Given the description of an element on the screen output the (x, y) to click on. 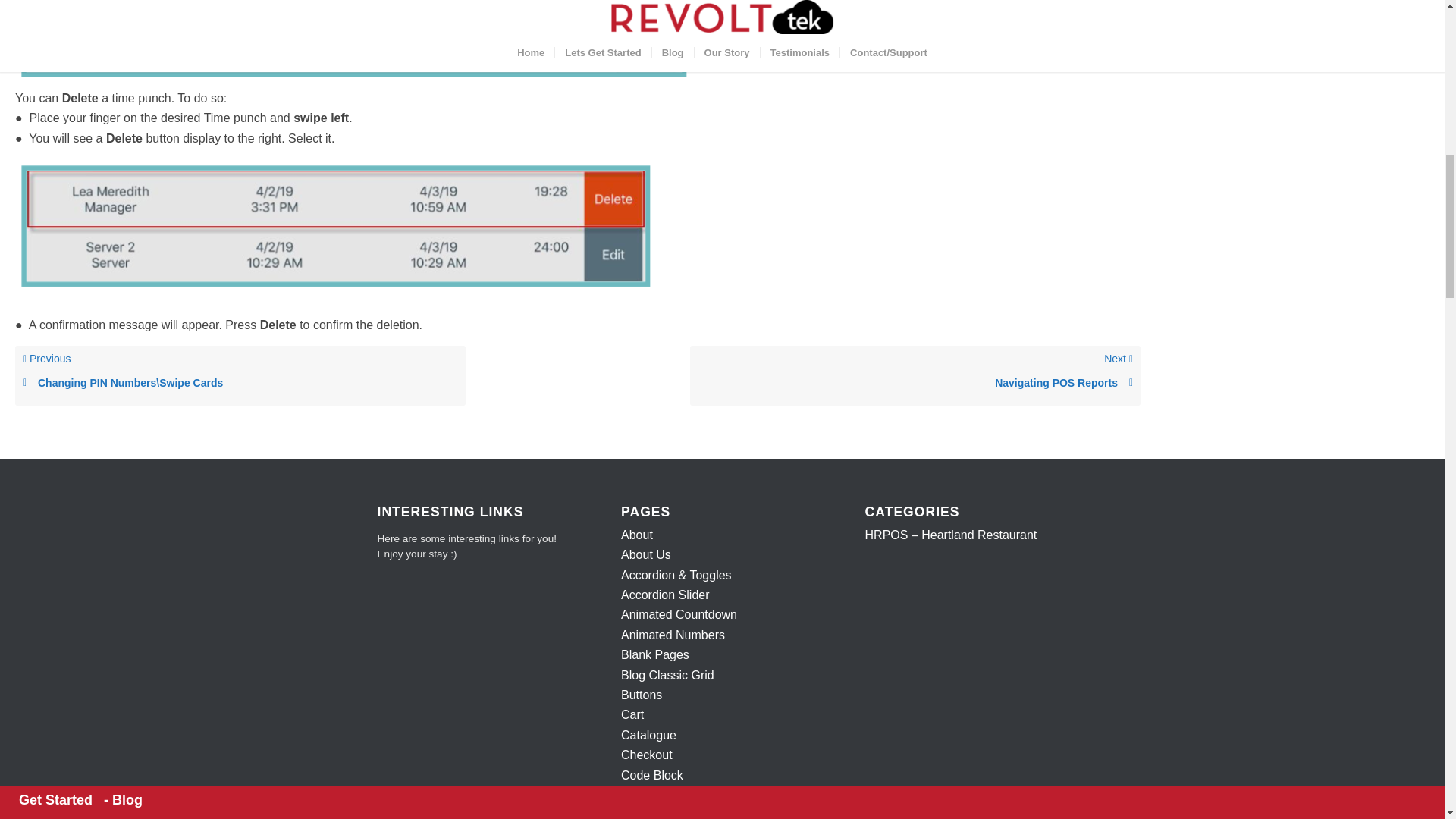
Buttons (641, 694)
Checkout (646, 754)
Accordion Slider (665, 594)
About Us (646, 554)
Blank Pages (915, 375)
Code Block (654, 654)
Animated Numbers (651, 775)
Cart (673, 634)
Navigating POS Reports (632, 714)
Animated Countdown (914, 382)
About (678, 614)
Blog Classic Grid (636, 534)
Columns (667, 675)
Catalogue (644, 813)
